Given the description of an element on the screen output the (x, y) to click on. 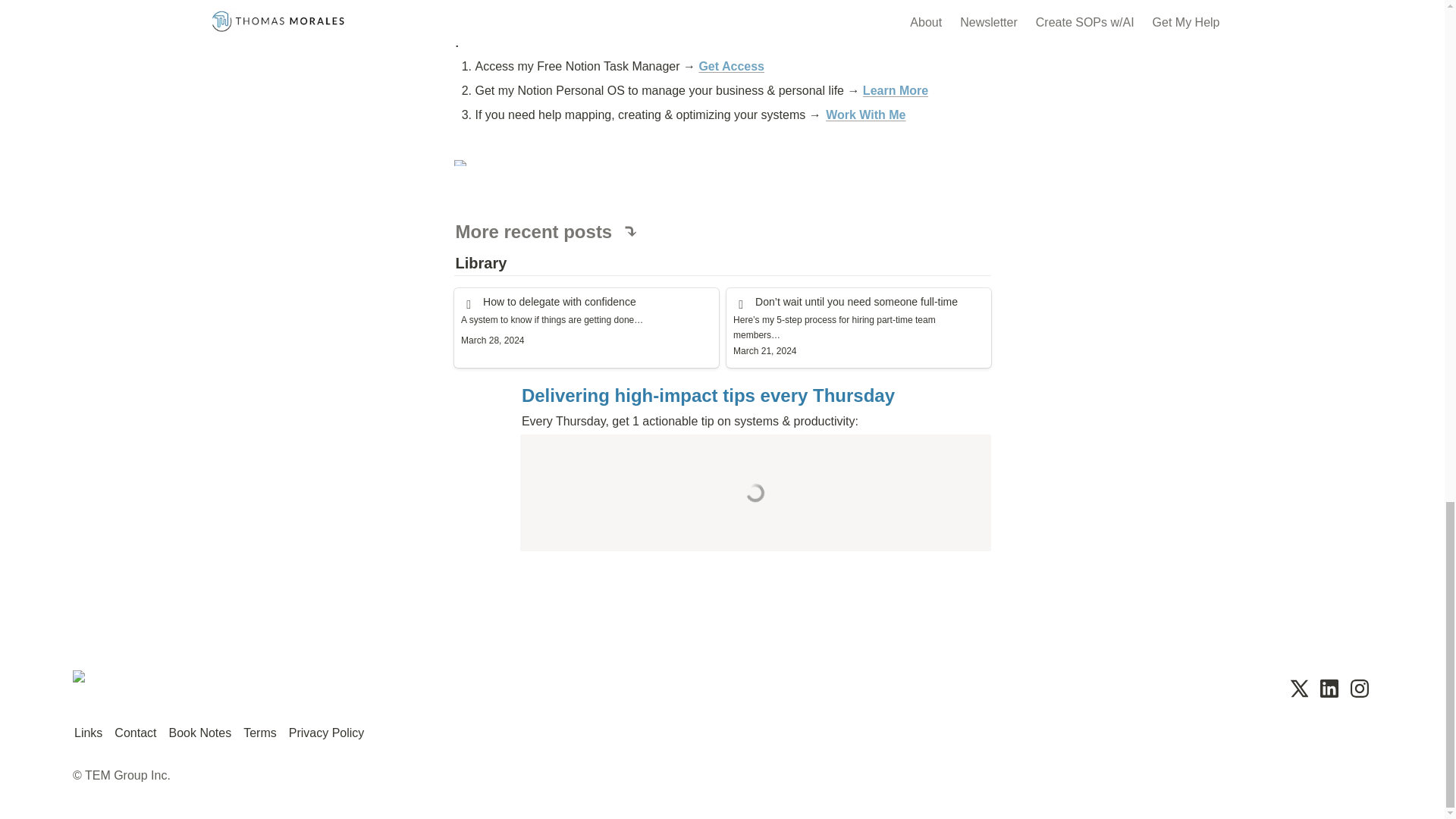
X (1298, 688)
Contact (135, 733)
Learn More (895, 90)
Terms (259, 733)
Get Access (731, 65)
X (1298, 688)
How to delegate with confidence (584, 328)
Book Notes (199, 733)
Instagram (1359, 688)
Links (87, 733)
